Given the description of an element on the screen output the (x, y) to click on. 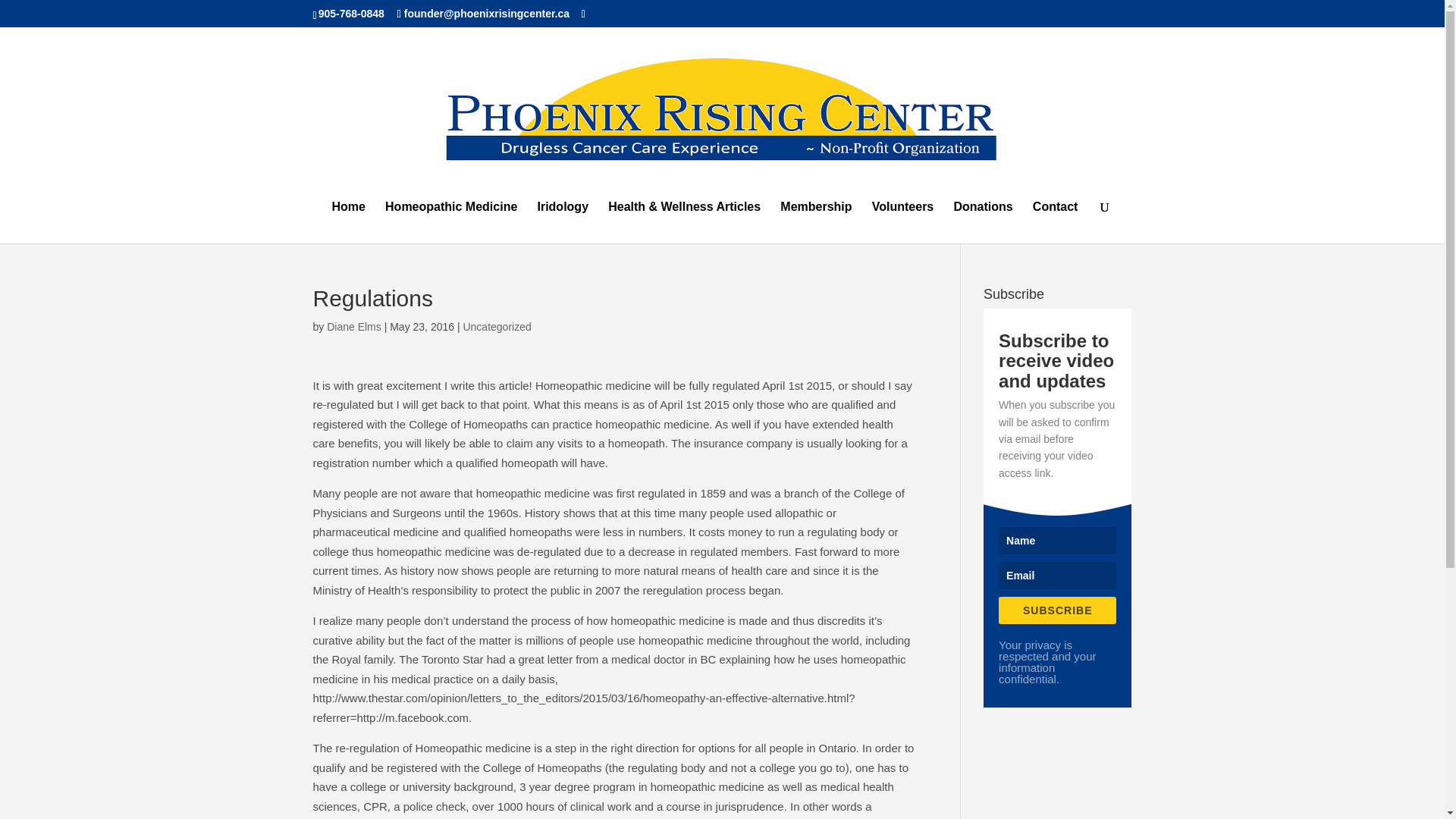
Diane Elms (353, 326)
Donations (982, 222)
SUBSCRIBE (1057, 610)
Homeopathic Medicine (450, 222)
Volunteers (903, 222)
Uncategorized (497, 326)
Contact (1055, 222)
Posts by Diane Elms (353, 326)
Membership (815, 222)
Iridology (562, 222)
